Given the description of an element on the screen output the (x, y) to click on. 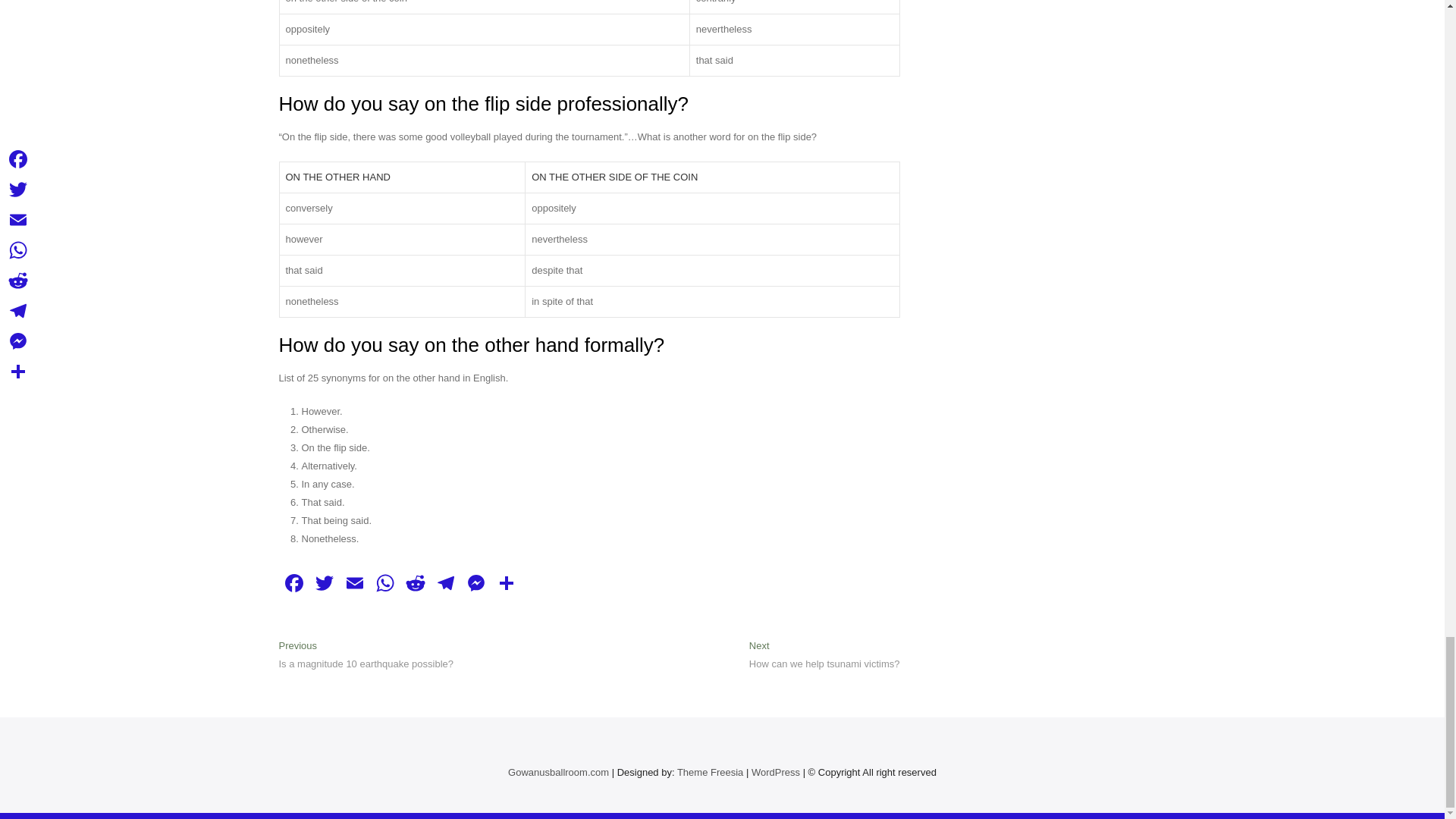
WhatsApp (384, 584)
Email (354, 584)
Reddit (415, 584)
Facebook (293, 584)
Twitter (323, 584)
Telegram (445, 584)
